Given the description of an element on the screen output the (x, y) to click on. 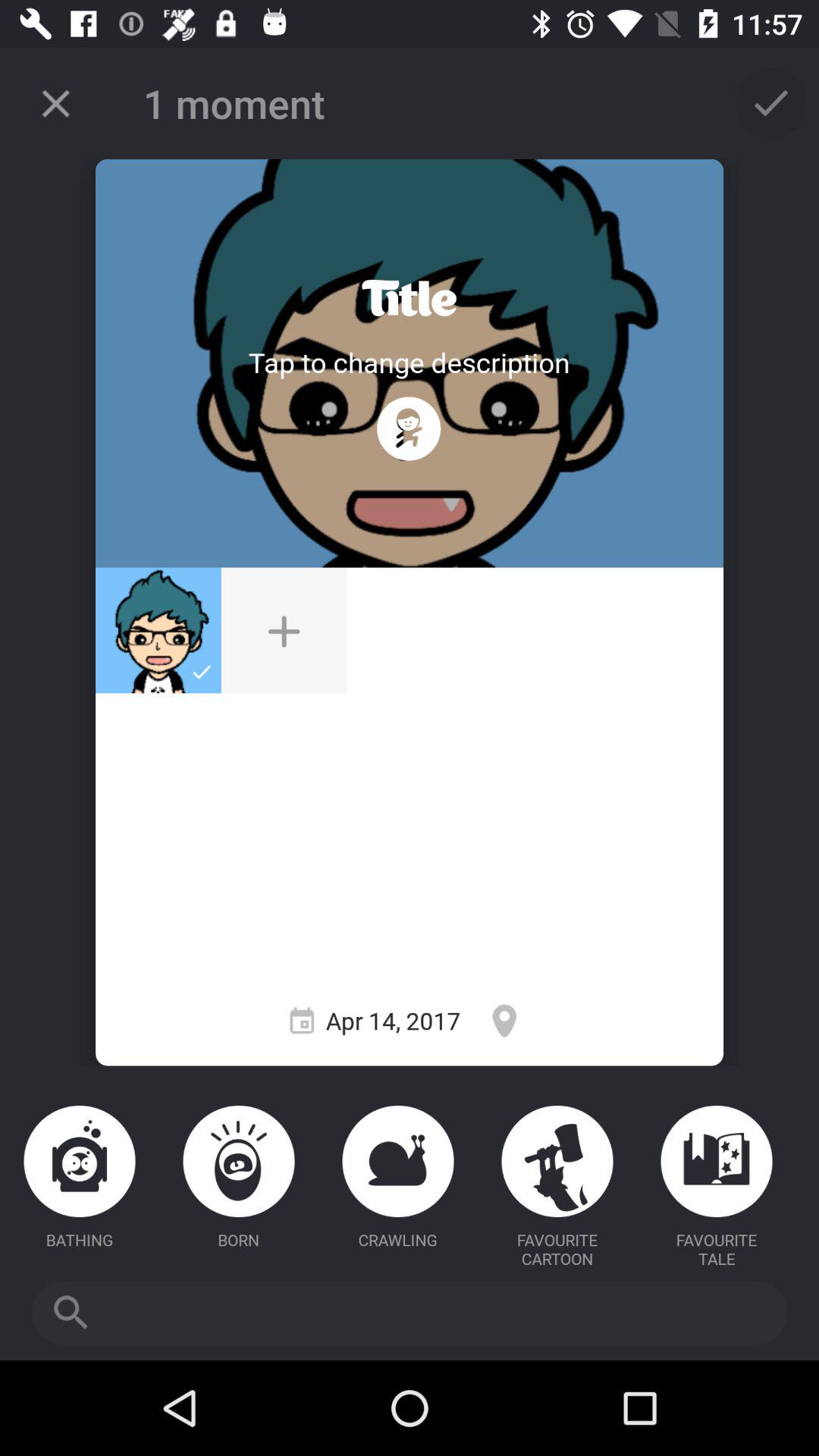
submit option (771, 103)
